Given the description of an element on the screen output the (x, y) to click on. 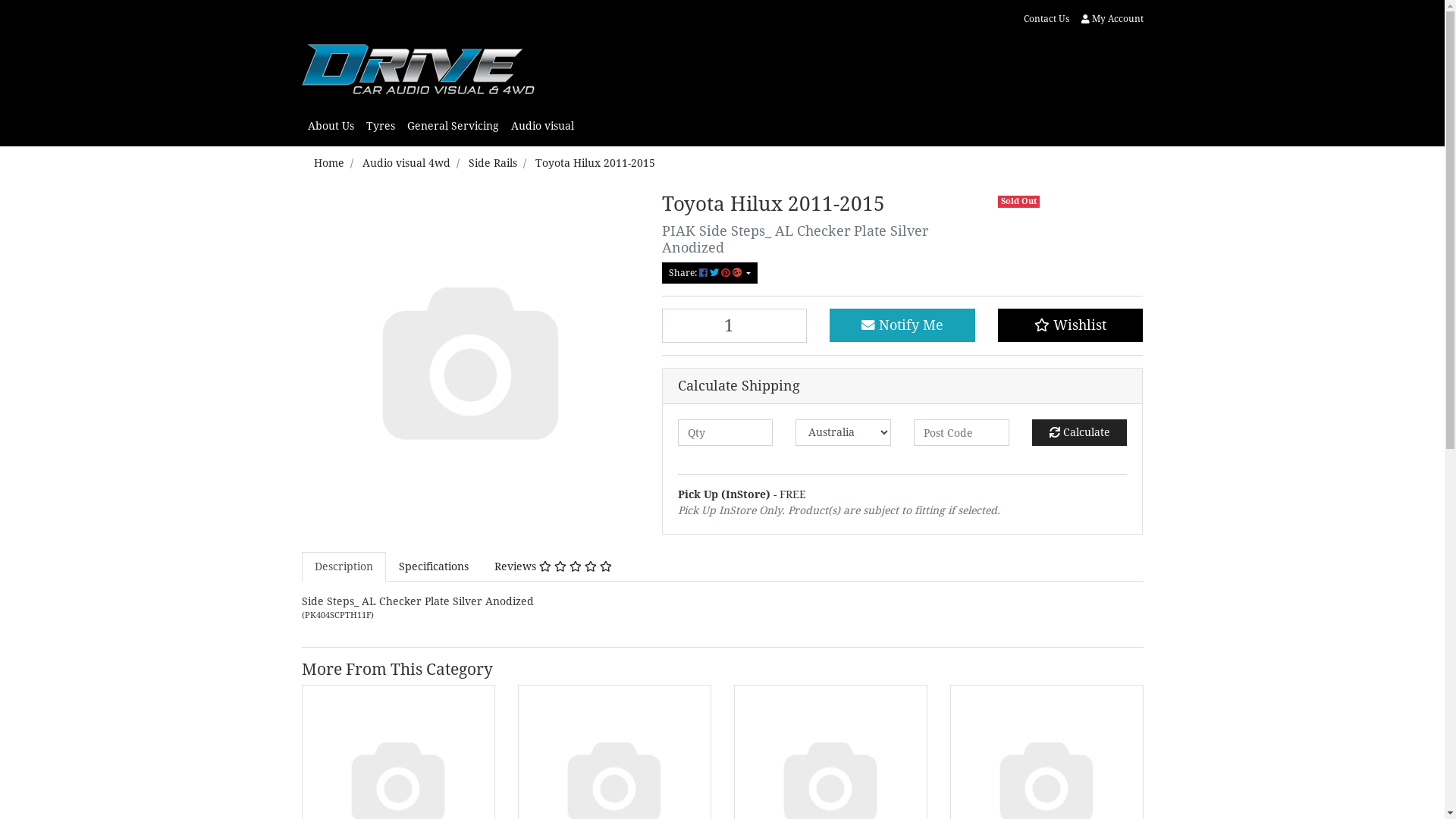
Tyres Element type: text (379, 126)
Reviews Element type: text (552, 566)
Audio visual 4wd Element type: text (406, 162)
Home Element type: text (328, 162)
General Servicing Element type: text (452, 126)
Share: Element type: text (708, 272)
Calculate Element type: text (1079, 432)
Contact Us Element type: text (1046, 18)
Side Rails Element type: text (492, 162)
Description Element type: text (343, 566)
Wishlist Element type: text (1070, 325)
Specifications Element type: text (432, 566)
My Account Element type: text (1109, 18)
About Us Element type: text (330, 126)
Audio visual Element type: text (542, 126)
Toyota Hilux 2011-2015 Element type: text (595, 162)
Notify Me Element type: text (902, 325)
Drive Ipswich Element type: hover (417, 65)
